Given the description of an element on the screen output the (x, y) to click on. 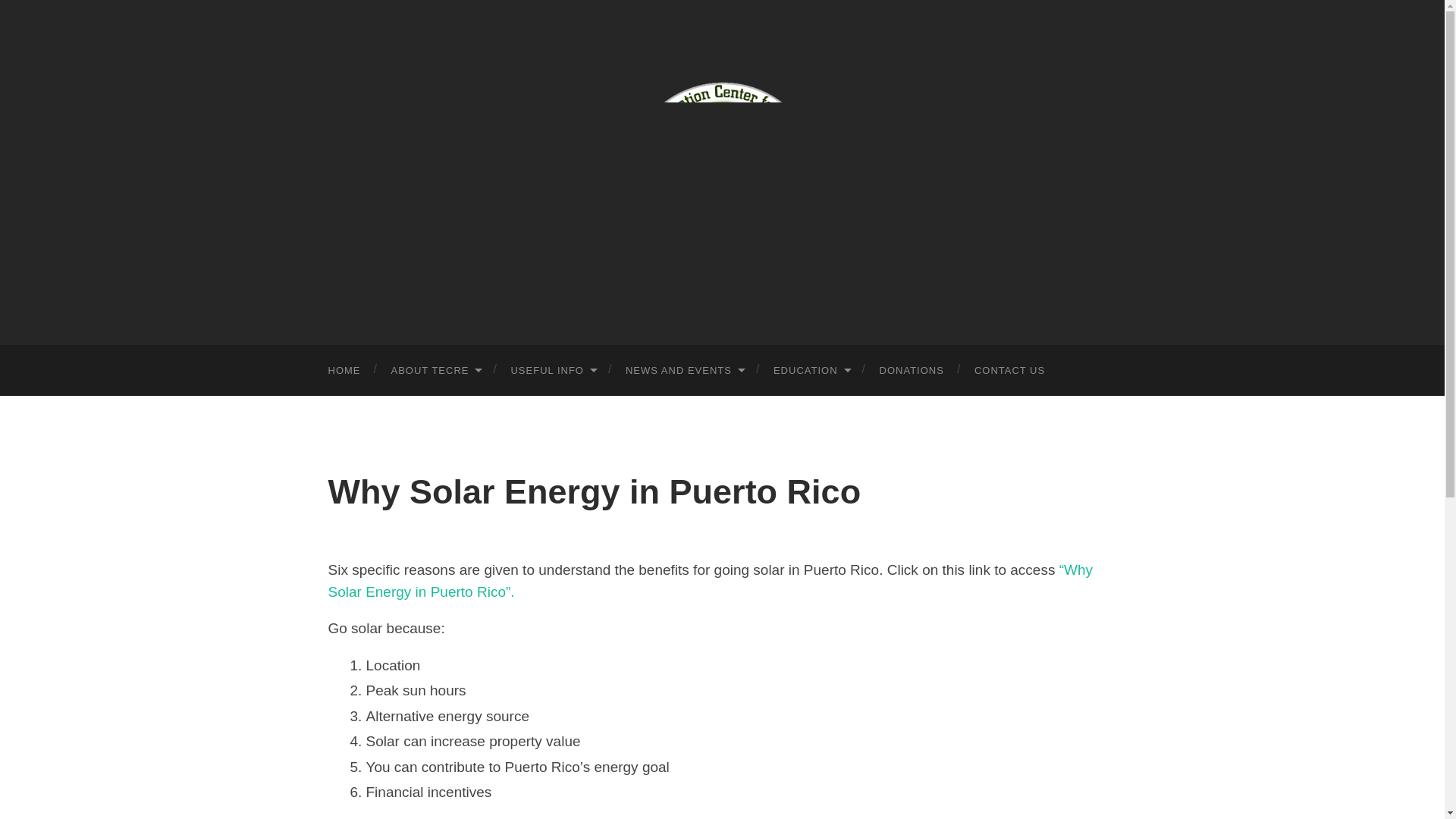
EDUCATION (811, 369)
USEFUL INFO (552, 369)
HOME (344, 369)
ABOUT TECRE (435, 369)
NEWS AND EVENTS (684, 369)
DONATIONS (911, 369)
CONTACT US (1009, 369)
TECRE (722, 170)
